Given the description of an element on the screen output the (x, y) to click on. 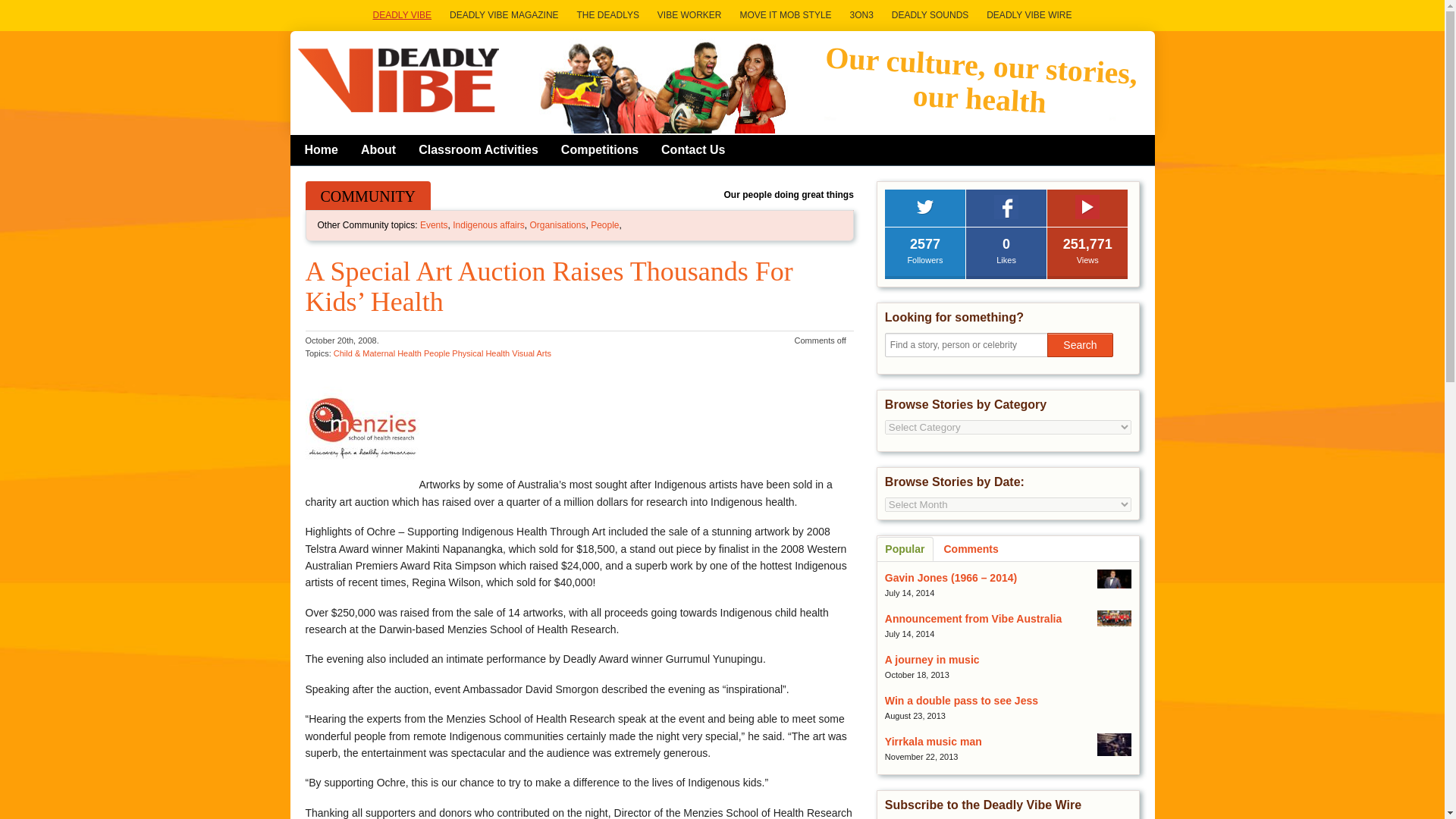
About (378, 149)
3ON3 (860, 15)
DEADLY VIBE WIRE (1028, 15)
VIBE WORKER (689, 15)
People (436, 352)
Deadly Vibe (398, 80)
Yirrkala music man (933, 741)
Search (1079, 344)
DEADLY VIBE MAGAZINE (504, 15)
People (604, 225)
